Given the description of an element on the screen output the (x, y) to click on. 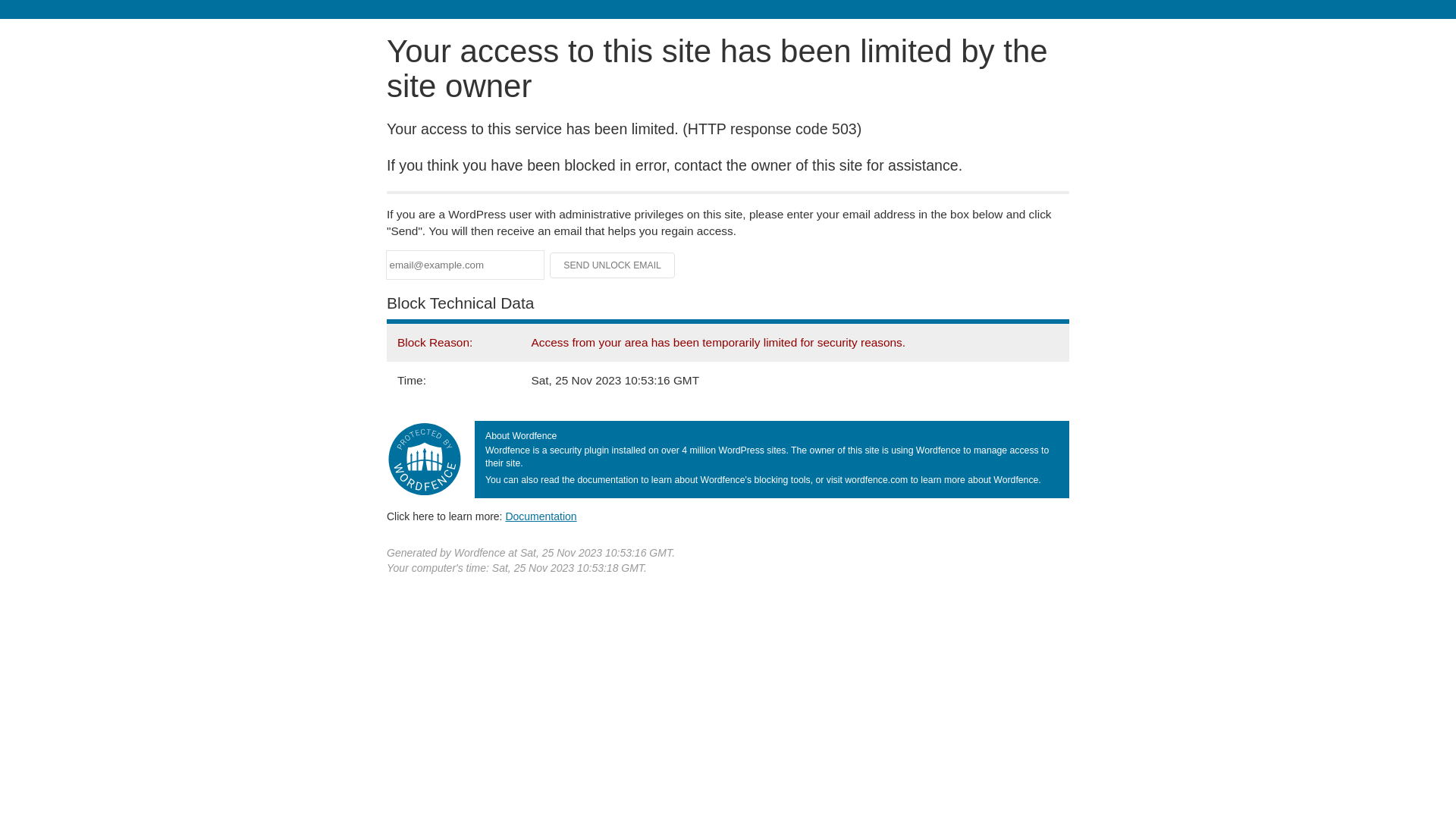
Send Unlock Email Element type: text (612, 265)
Documentation Element type: text (540, 516)
